Given the description of an element on the screen output the (x, y) to click on. 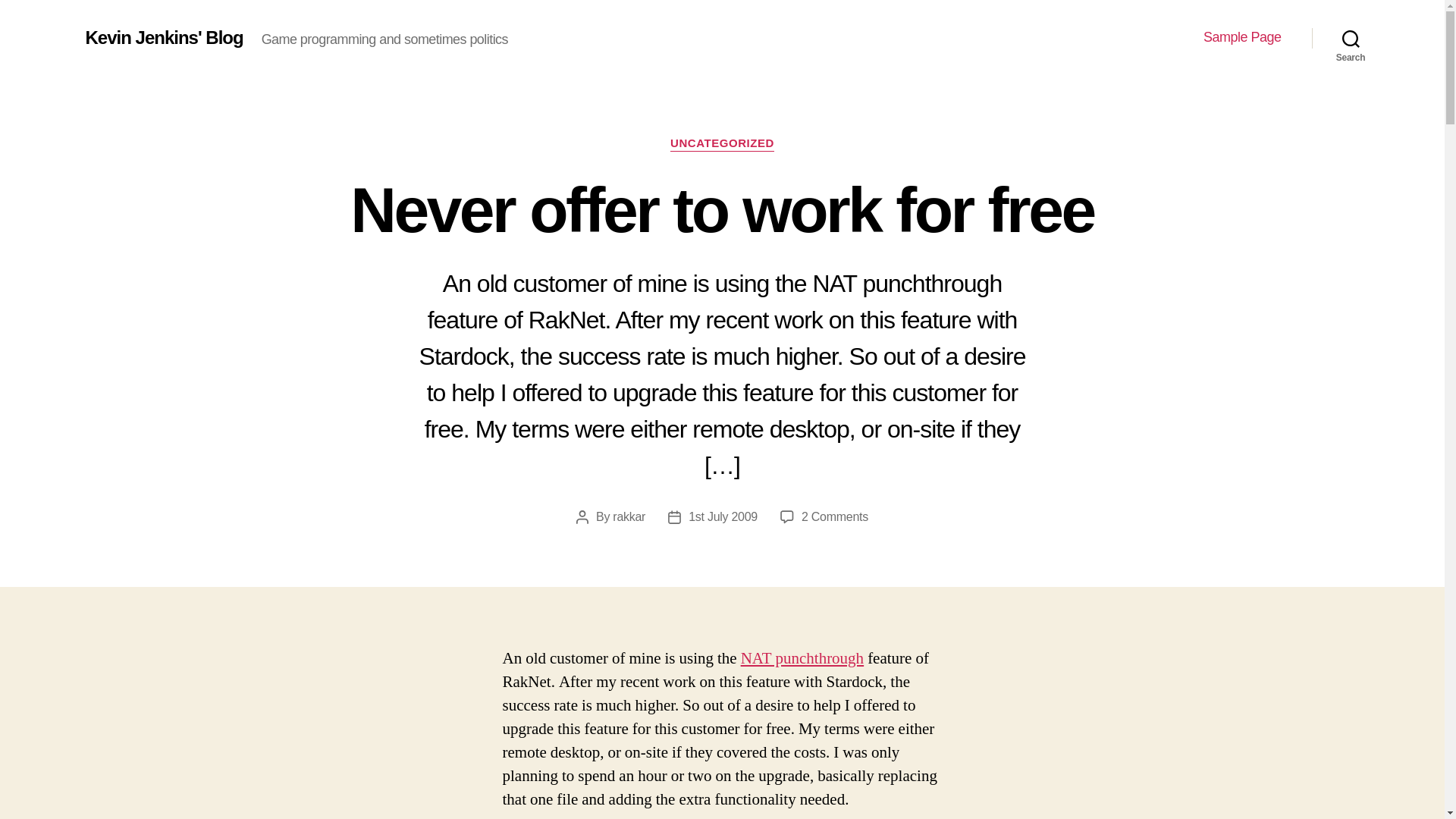
Sample Page (1242, 37)
UNCATEGORIZED (721, 143)
1st July 2009 (834, 516)
rakkar (722, 516)
Search (628, 516)
NAT punchthrough (1350, 37)
Kevin Jenkins' Blog (802, 658)
